Given the description of an element on the screen output the (x, y) to click on. 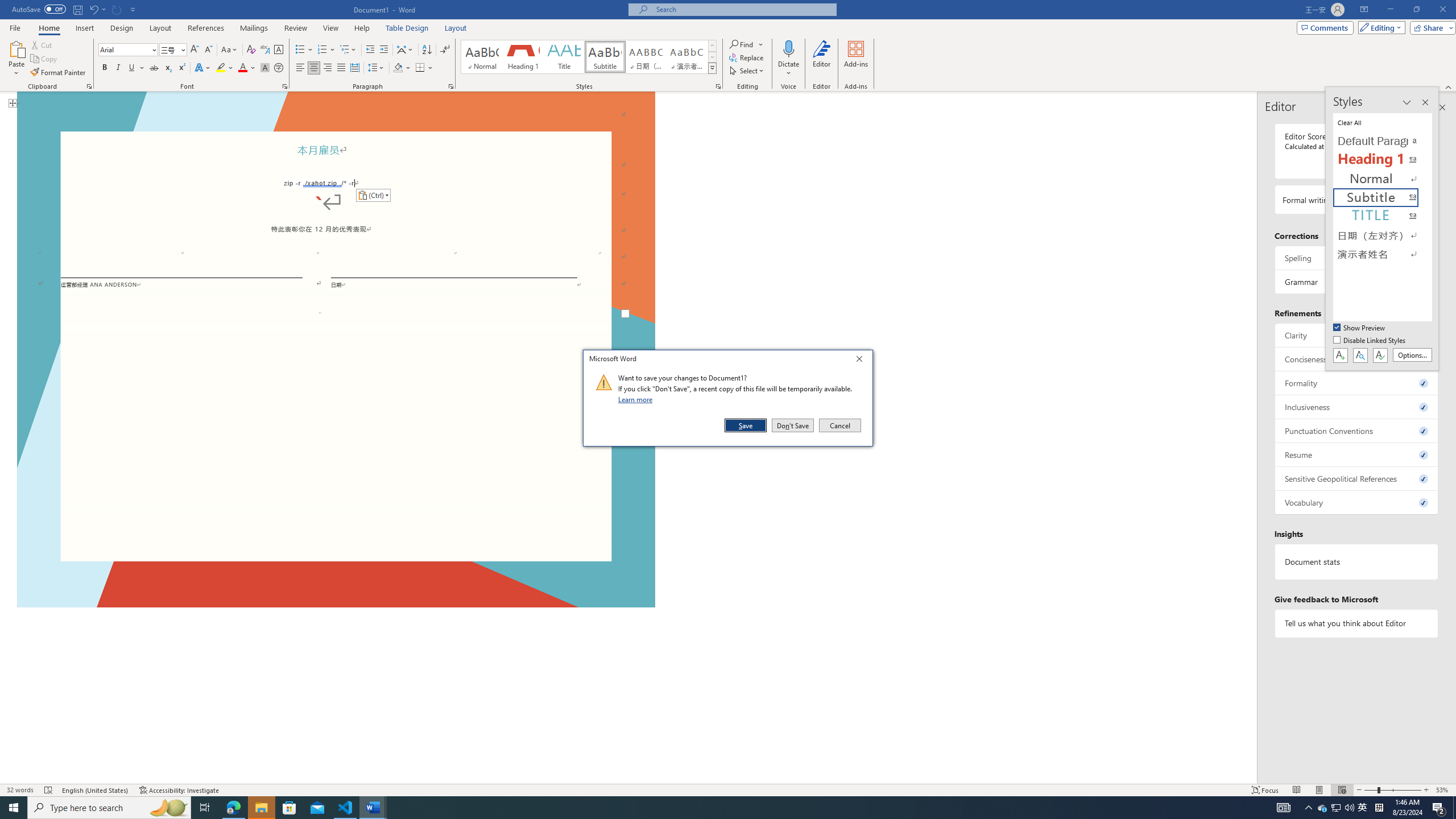
Vocabulary, 0 issues. Press space or enter to review items. (1356, 502)
Show Preview (1360, 328)
Class: NetUIButton (1380, 355)
Word Count 32 words (19, 790)
